Given the description of an element on the screen output the (x, y) to click on. 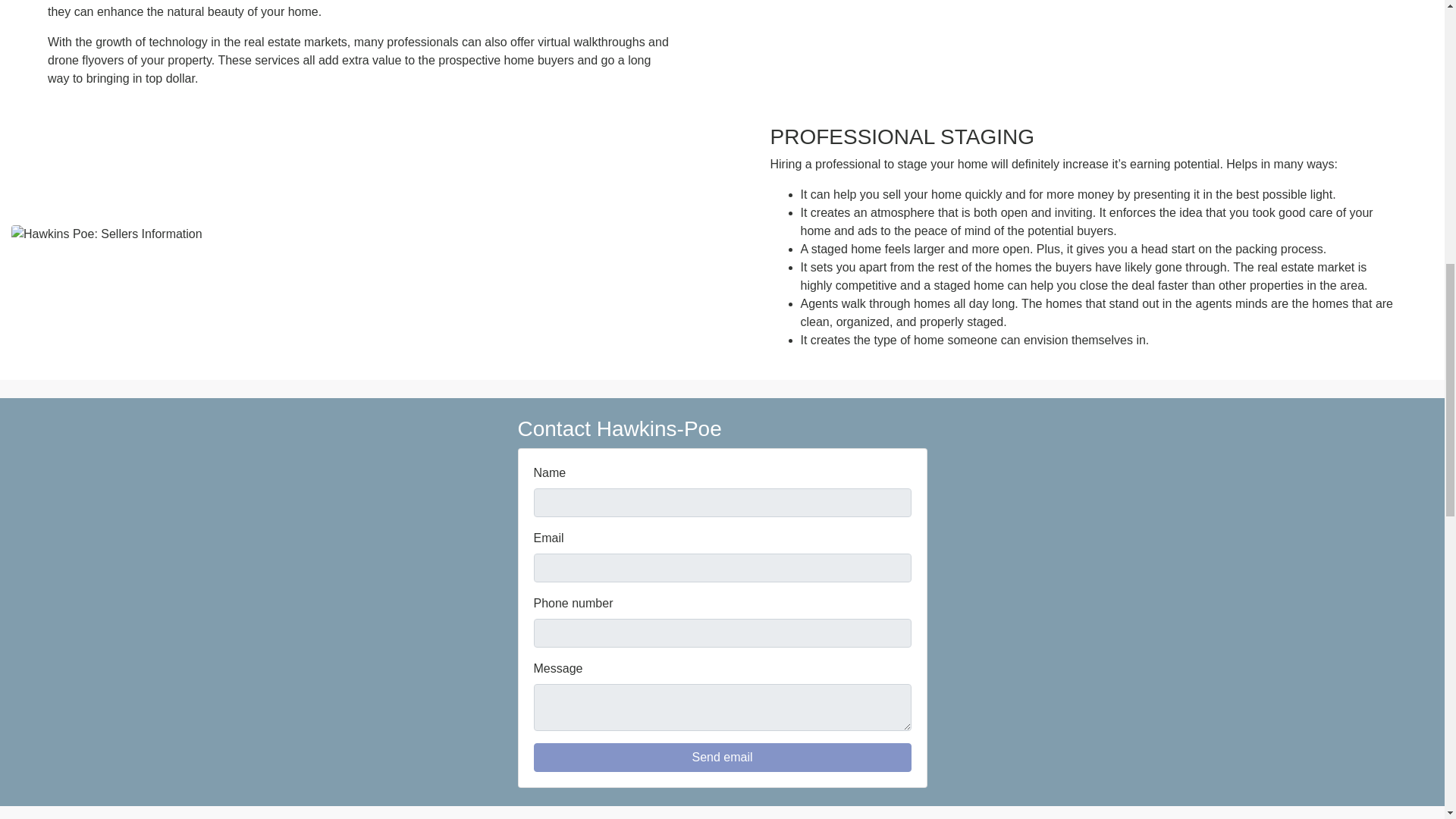
Send email (722, 757)
